Given the description of an element on the screen output the (x, y) to click on. 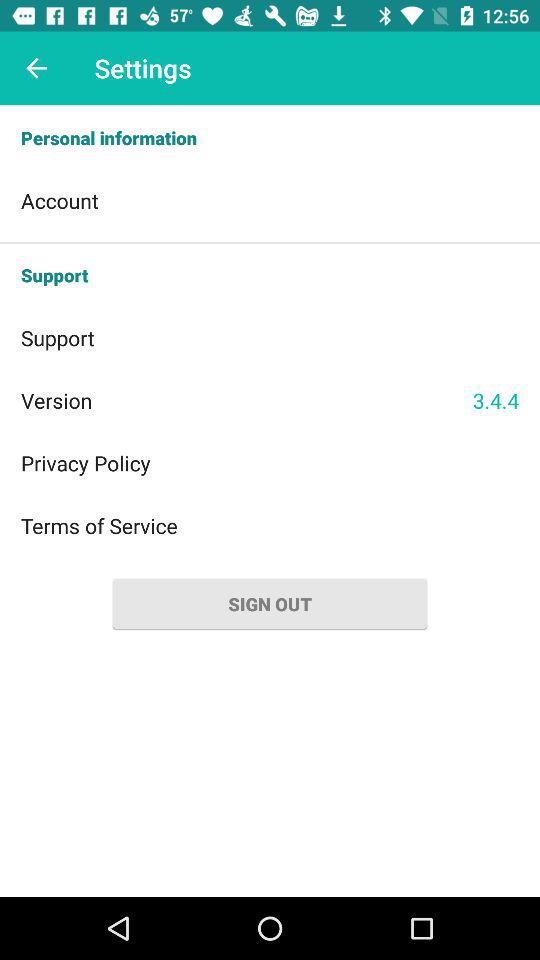
launch the item on the right (495, 400)
